Given the description of an element on the screen output the (x, y) to click on. 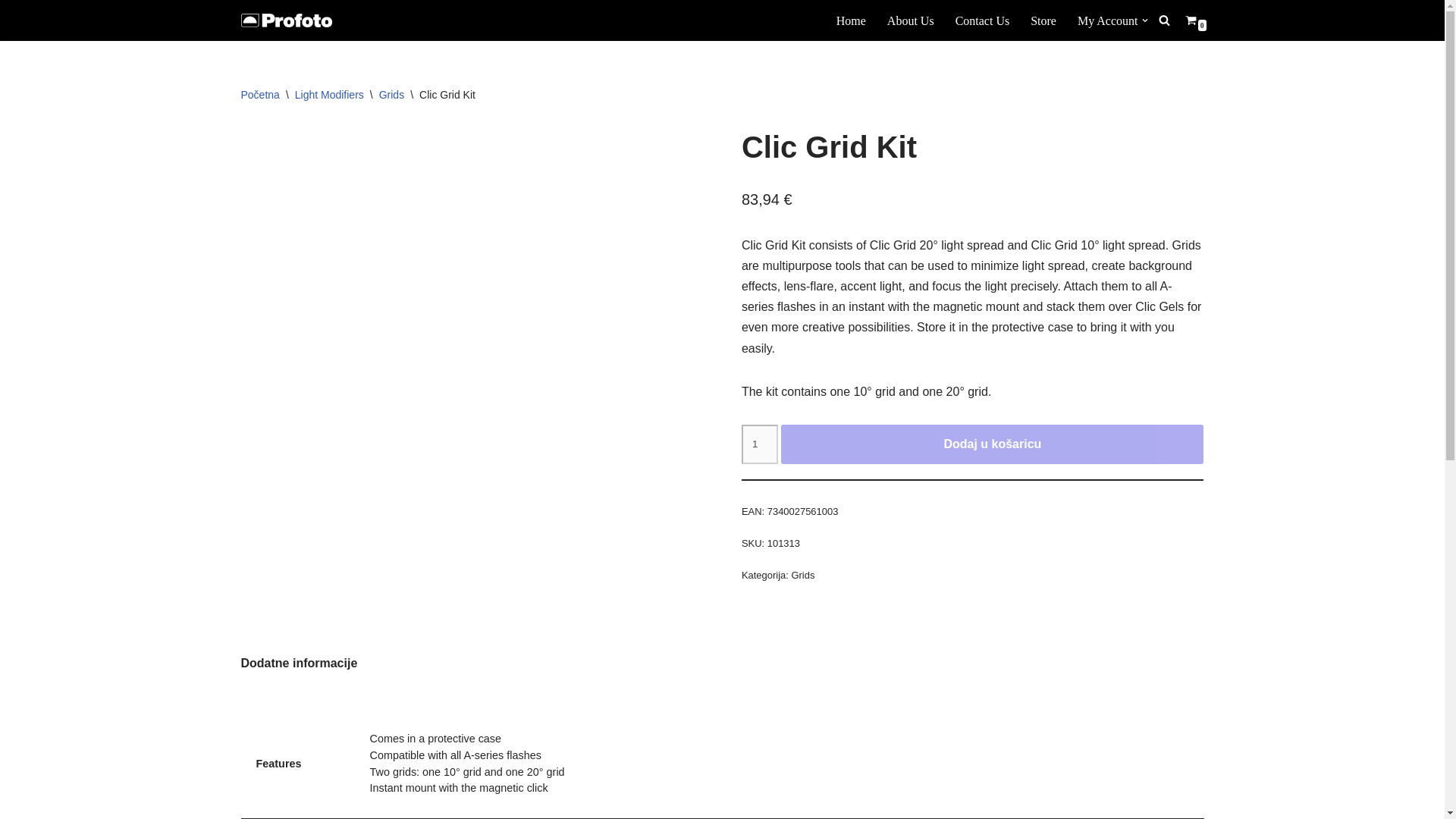
Store (1043, 20)
Skip to content (11, 31)
Home (850, 20)
My Account (1107, 20)
Grids (391, 94)
Grids (801, 574)
Dodatne informacije (299, 663)
About Us (910, 20)
0 (1190, 19)
Light Modifiers (329, 94)
